Given the description of an element on the screen output the (x, y) to click on. 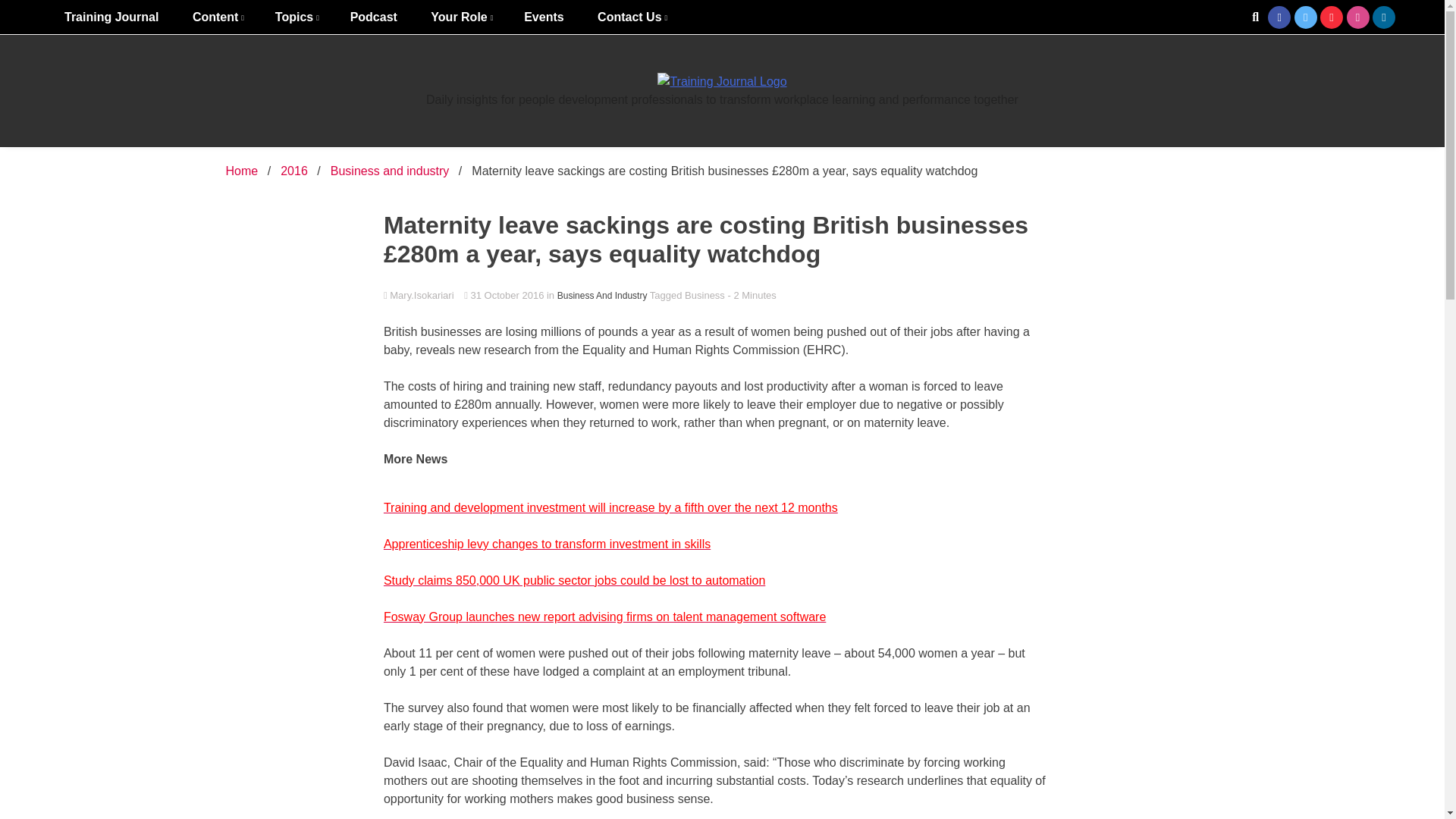
Topics (295, 17)
Events (543, 17)
Content (216, 17)
Podcast (373, 17)
Training Journal (111, 17)
Your Role (459, 17)
Estimated Reading Time of Article (751, 295)
